Given the description of an element on the screen output the (x, y) to click on. 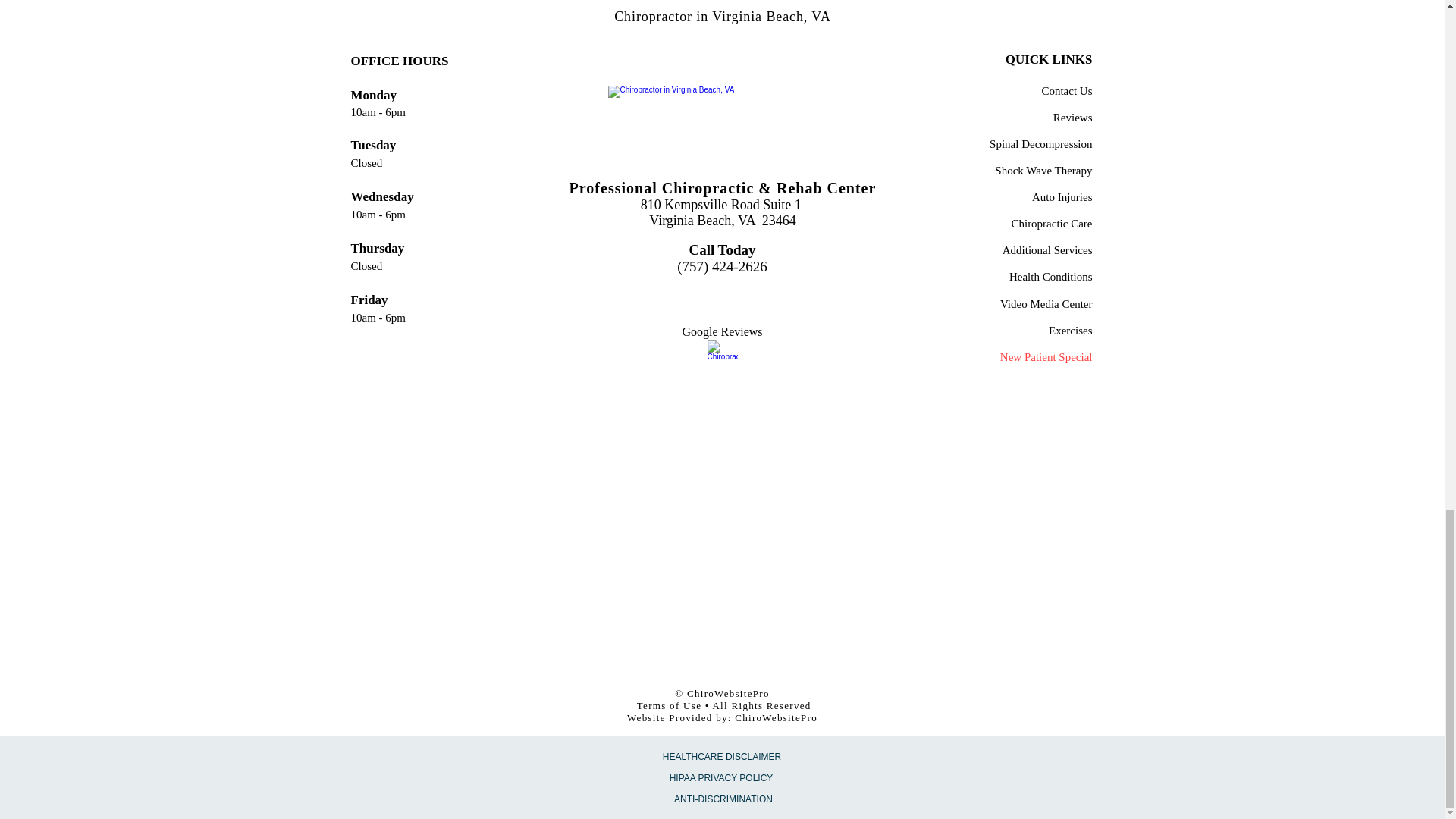
Spinal Decompression (1041, 143)
Exercises (1070, 329)
Additional Services (1048, 249)
Chiropractic Care (1051, 223)
HEALTHCARE DISCLAIMER (721, 756)
Contact Us (1066, 90)
Reviews (1072, 116)
Health Conditions (1051, 276)
Video Media Center (1046, 303)
Auto Injuries (1062, 196)
Shock Wave Therapy (1043, 169)
ChiroWebsitePro (775, 717)
New Patient Special (1046, 356)
